Given the description of an element on the screen output the (x, y) to click on. 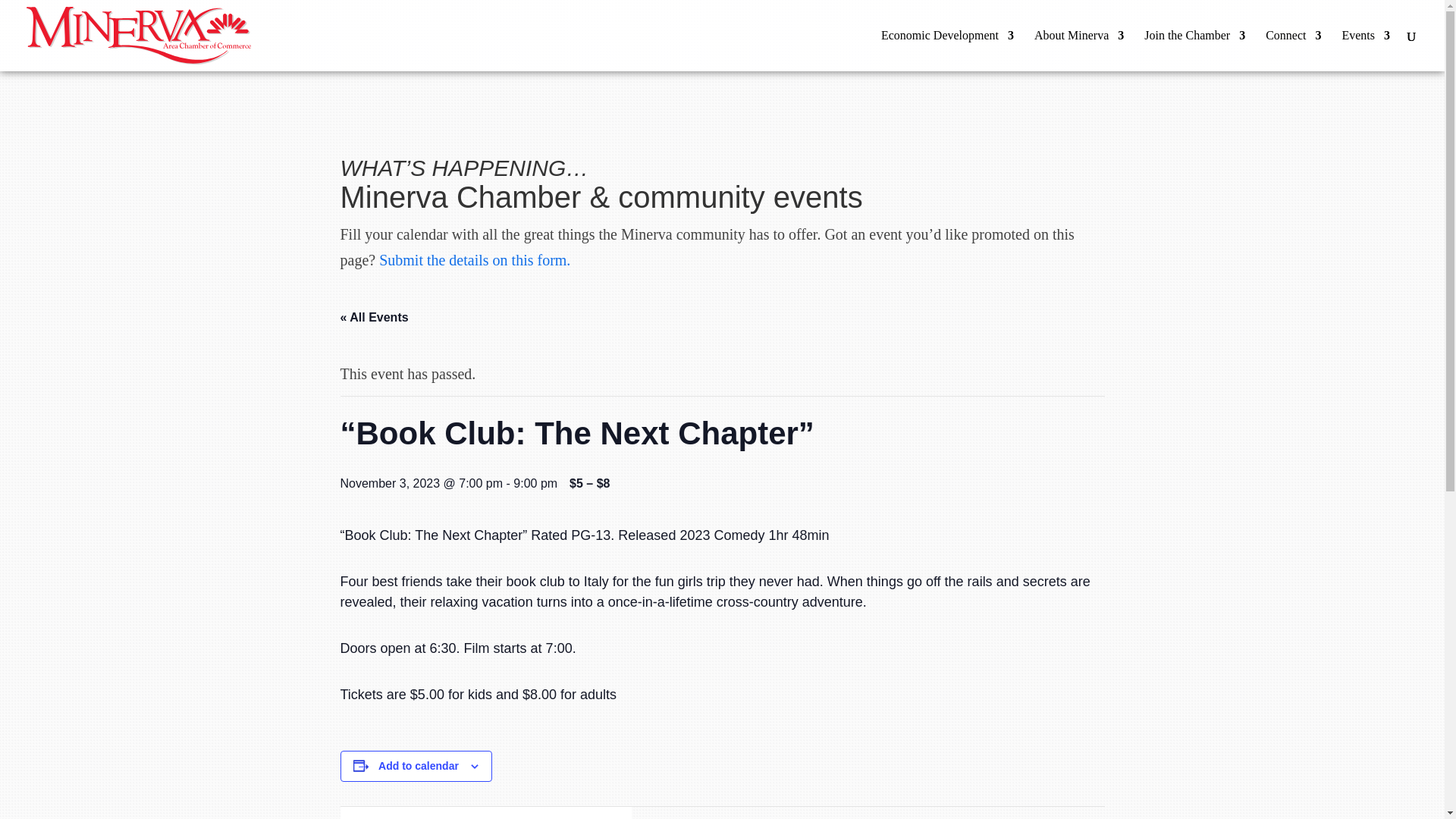
Join the Chamber (1194, 50)
Events (1365, 50)
Add to calendar (418, 766)
Submit the details on this form. (474, 259)
Economic Development (946, 50)
About Minerva (1078, 50)
Connect (1292, 50)
